Given the description of an element on the screen output the (x, y) to click on. 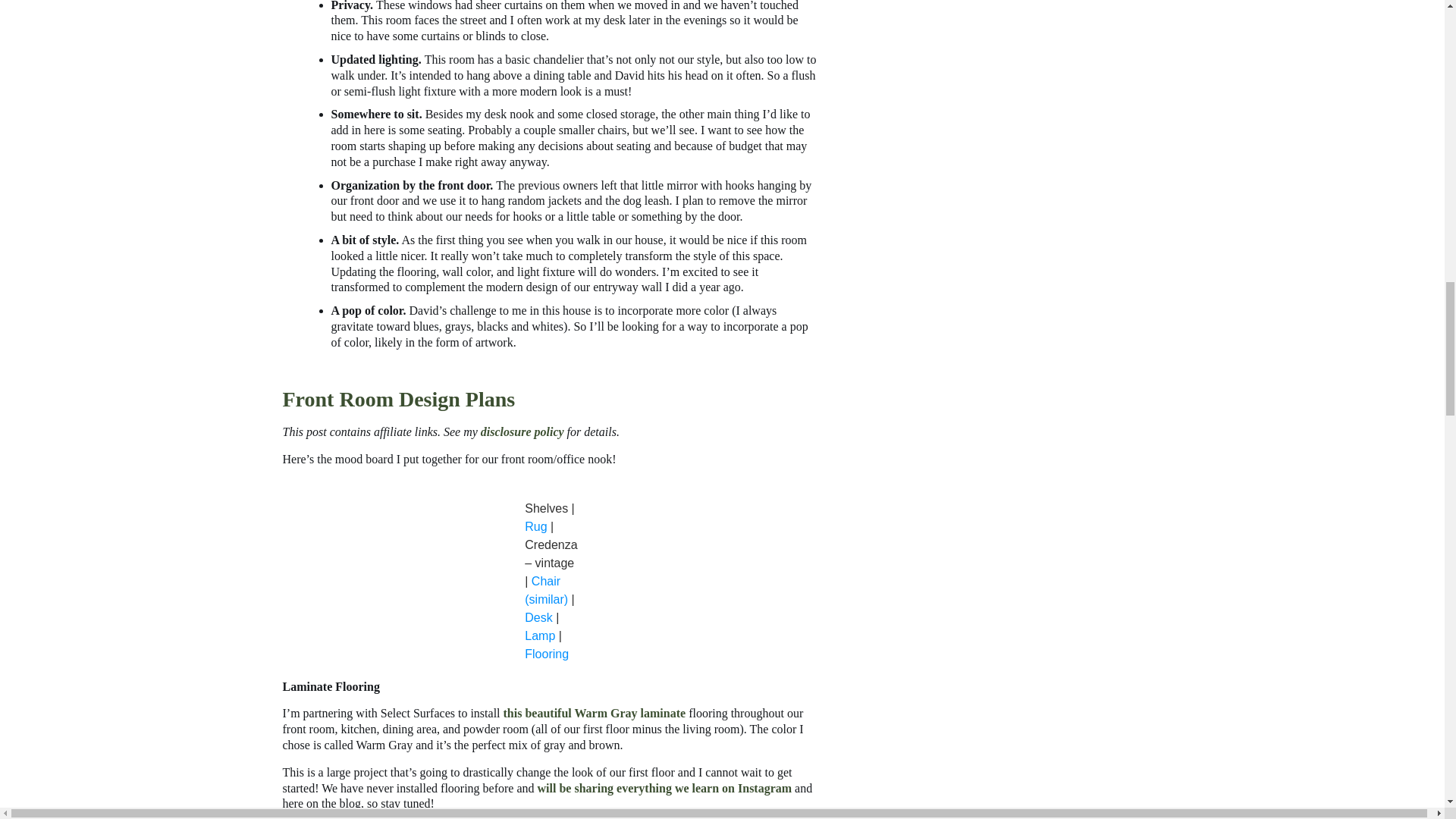
Flooring (546, 653)
Rug (535, 526)
Lamp (539, 635)
disclosure policy (522, 431)
Desk (537, 617)
